Given the description of an element on the screen output the (x, y) to click on. 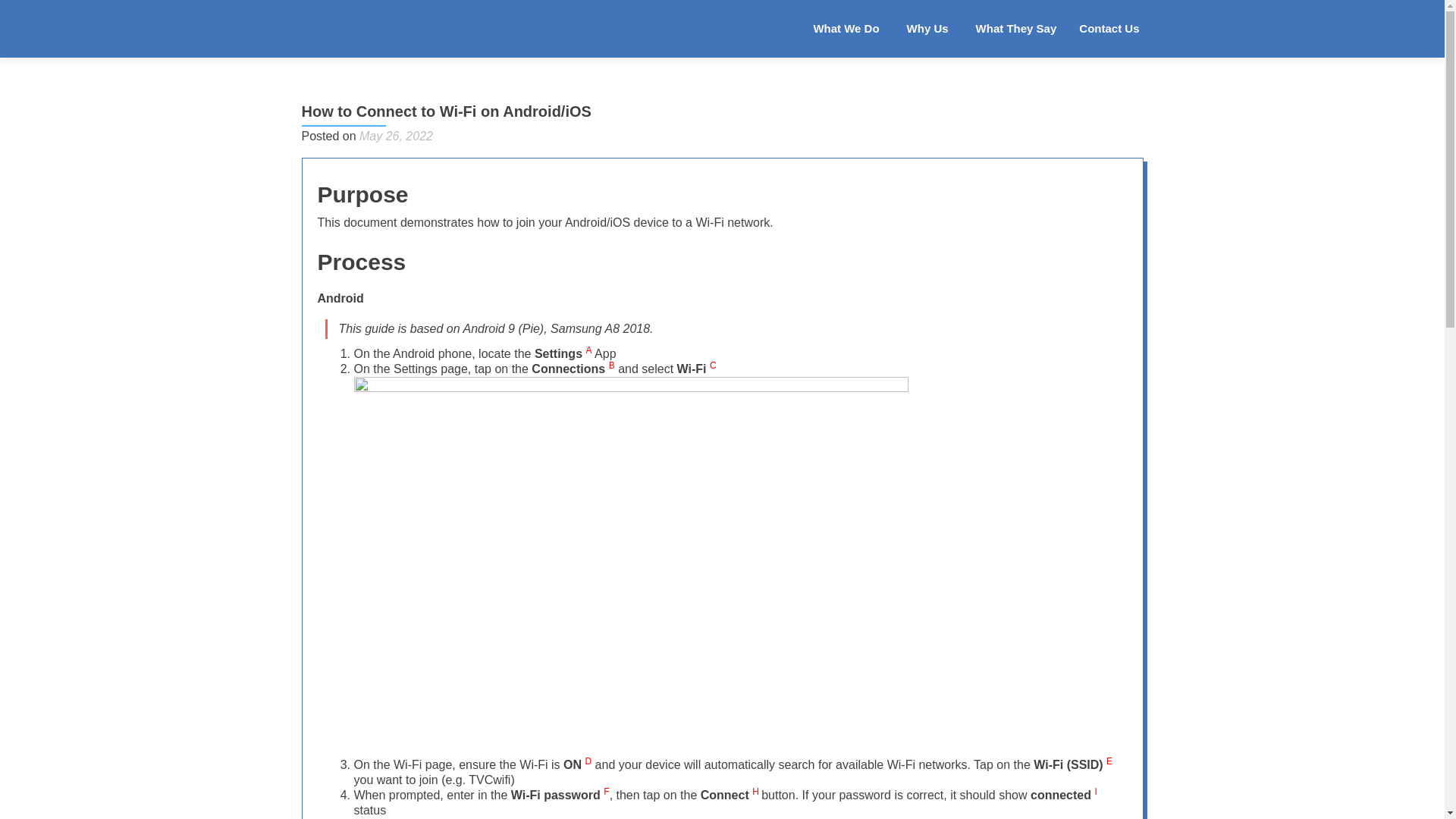
What We Do (848, 28)
Contact Us (1109, 28)
May 26, 2022 (395, 135)
What They Say (1016, 28)
Why Us (929, 28)
